Given the description of an element on the screen output the (x, y) to click on. 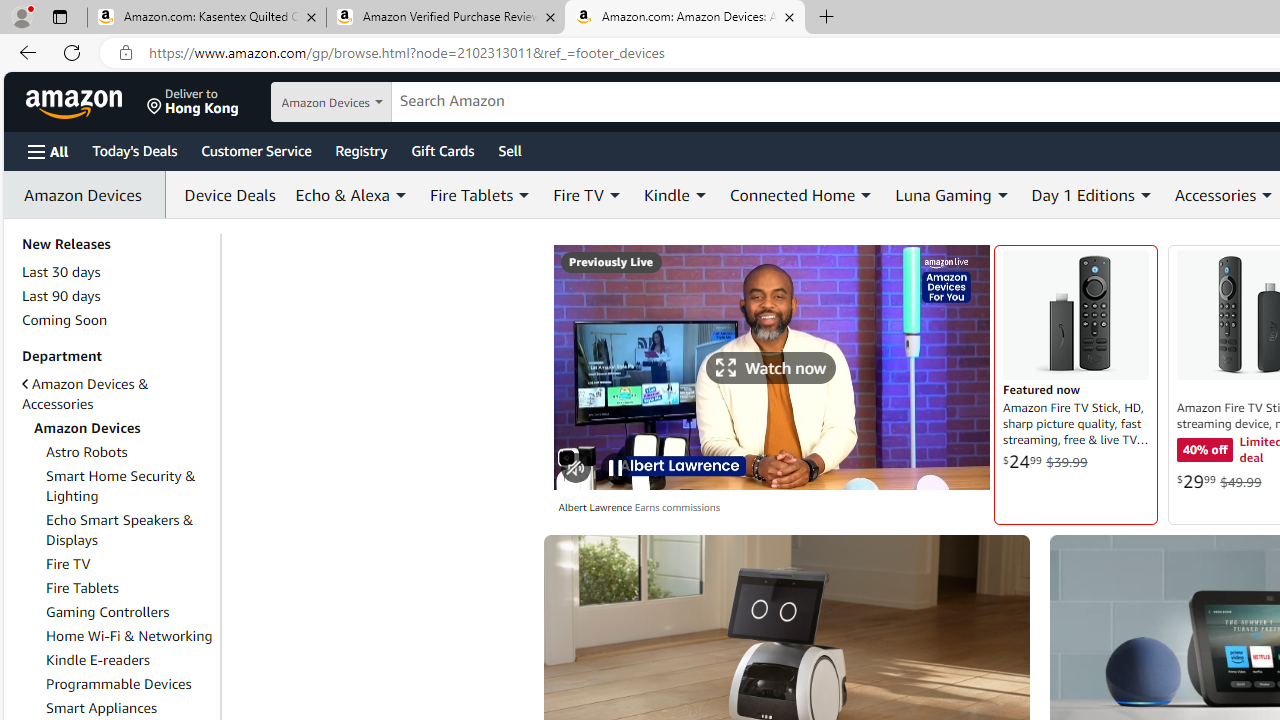
Last 90 days (61, 296)
Gaming Controllers (129, 611)
Expand Kindle (700, 195)
Expand Accessories (1267, 195)
Amazon Devices (87, 195)
Kindle E-readers (129, 660)
Device Deals (225, 194)
Amazon Verified Purchase Reviews - Amazon Customer Service (445, 17)
Coming Soon (64, 320)
Fire Tablets (129, 588)
Sell (509, 150)
Tap Watch now to see broadcast in immersive view (771, 367)
Kindle E-readers (97, 659)
